Given the description of an element on the screen output the (x, y) to click on. 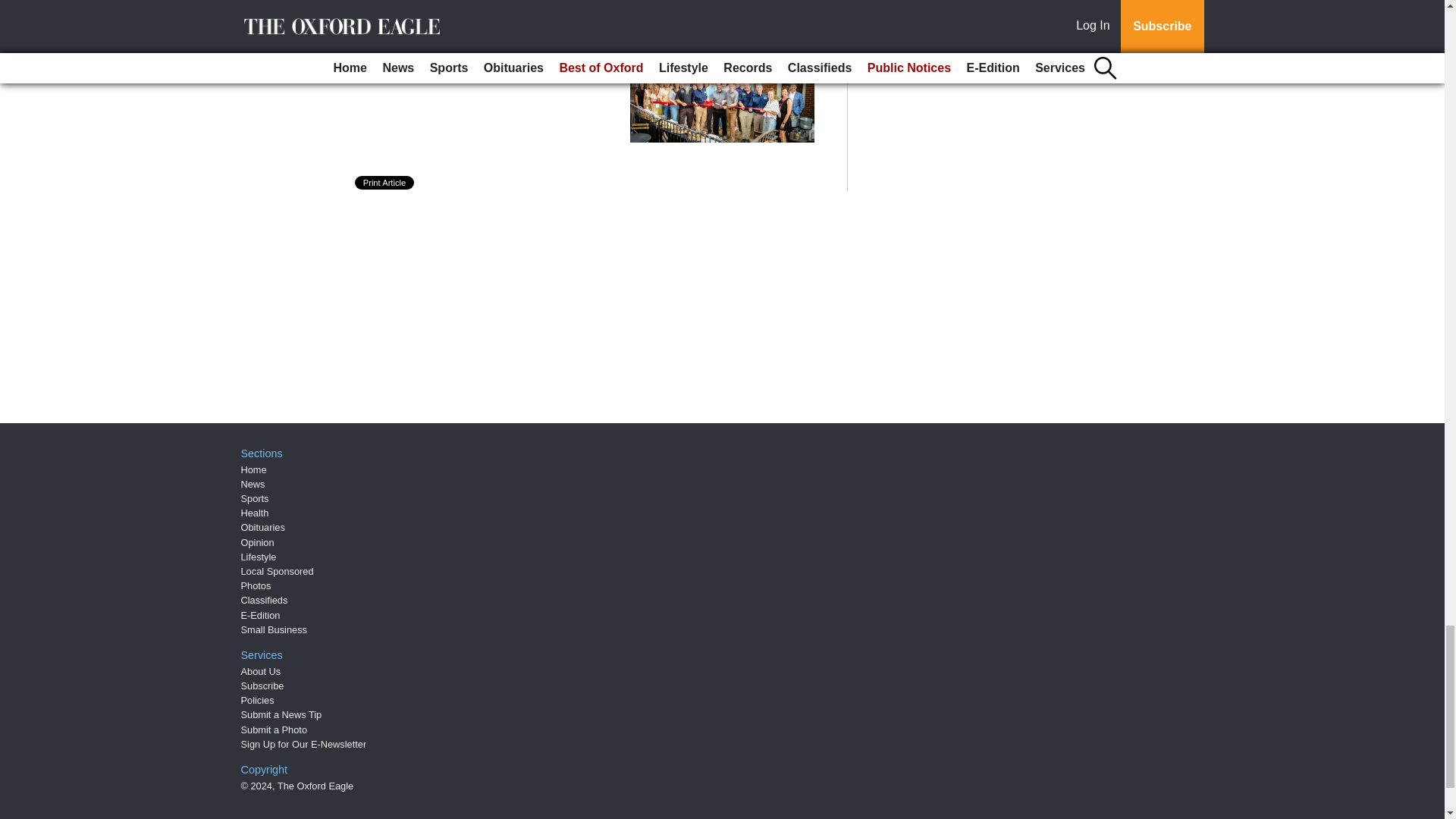
RKA Construction celebrates new office (495, 58)
RKA Construction celebrates new office (495, 58)
Print Article (384, 182)
